Given the description of an element on the screen output the (x, y) to click on. 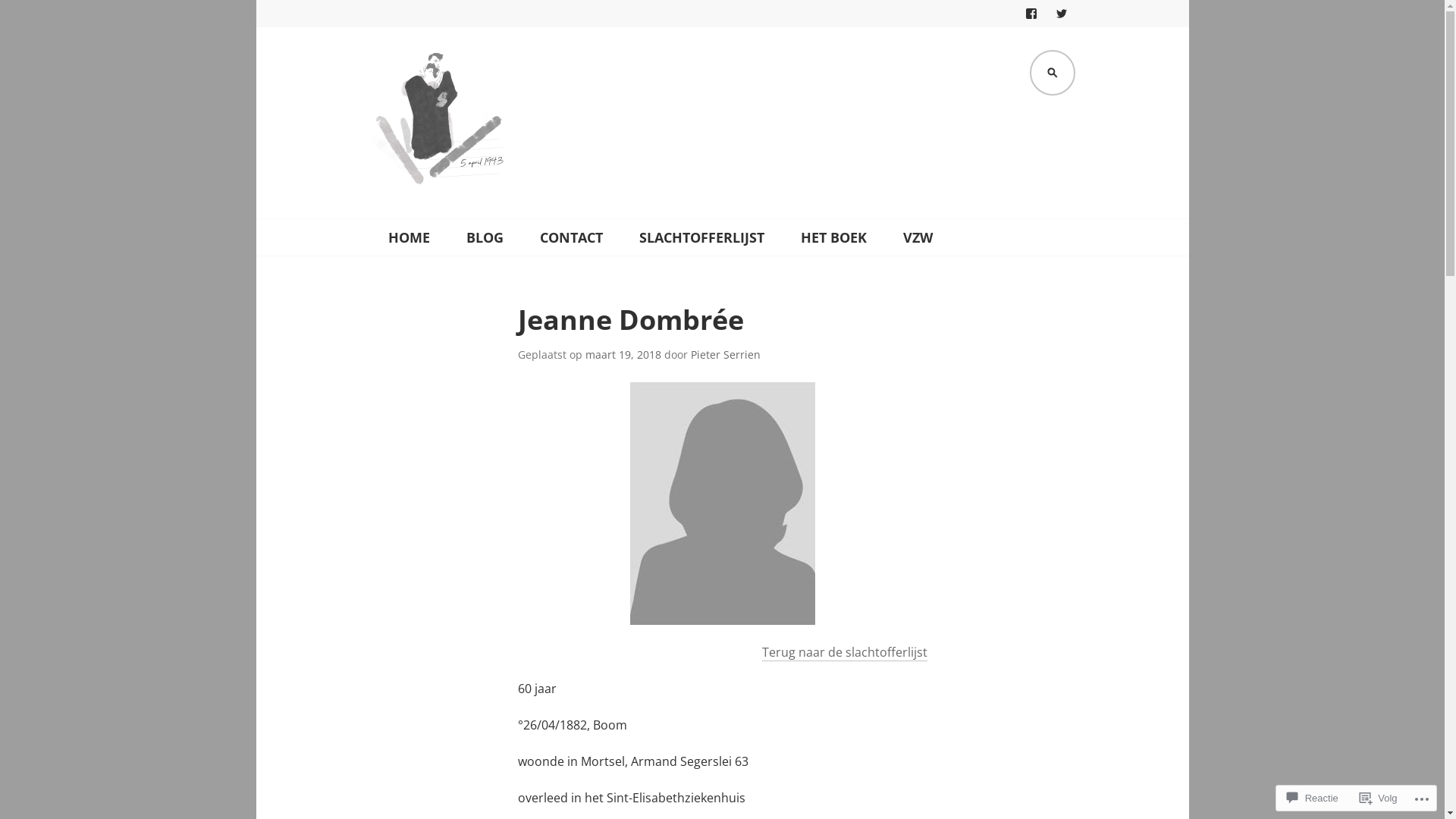
Pieter Serrien Element type: text (724, 354)
TWITTER Element type: text (1061, 13)
CONTACT Element type: text (571, 237)
Volg Element type: text (1377, 797)
SLACHTOFFERLIJST Element type: text (700, 237)
BLOG Element type: text (483, 237)
FACEBOOK Element type: text (1031, 13)
Reactie Element type: text (1312, 797)
HOME Element type: text (409, 237)
5 APRIL 1943, HET BOMBARDEMENT OP MORTSEL Element type: text (701, 221)
maart 19, 2018 Element type: text (623, 354)
Terug naar de slachtofferlijst Element type: text (843, 652)
VZW Element type: text (917, 237)
HET BOEK Element type: text (833, 237)
